Given the description of an element on the screen output the (x, y) to click on. 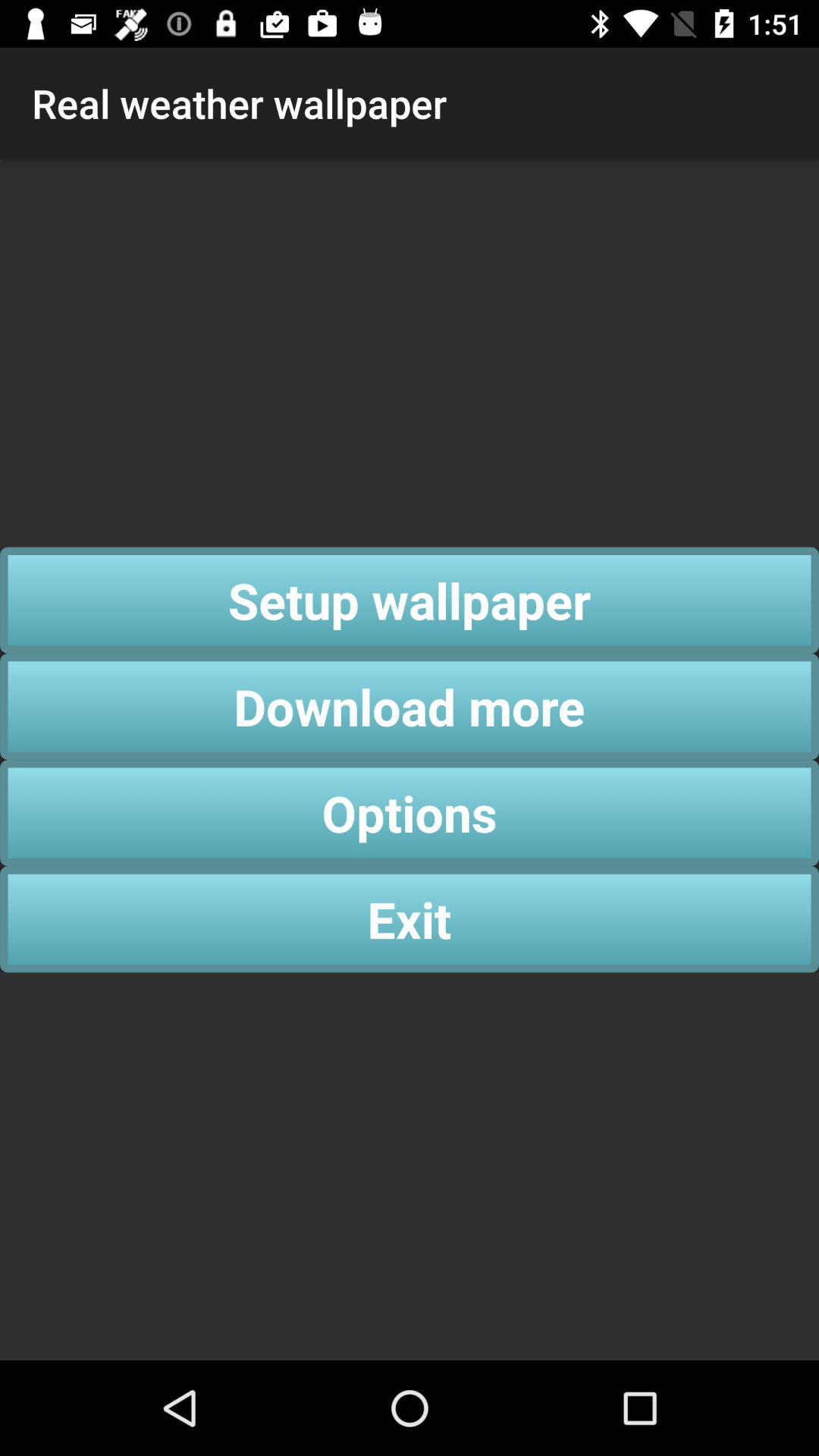
click the icon below options item (409, 919)
